Given the description of an element on the screen output the (x, y) to click on. 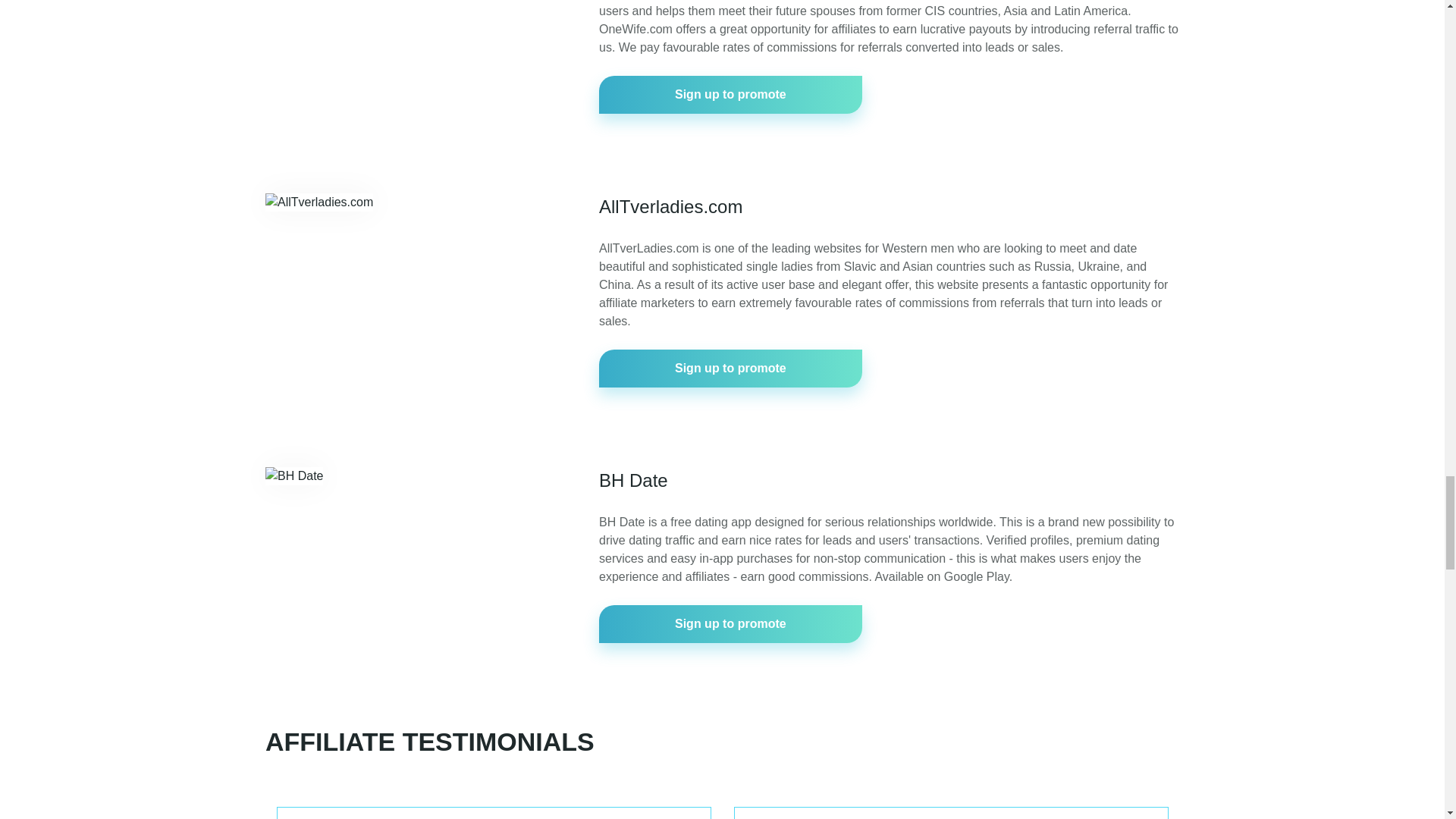
Sign up to promote (729, 623)
Sign up to promote (729, 368)
Sign up to promote (729, 94)
